Given the description of an element on the screen output the (x, y) to click on. 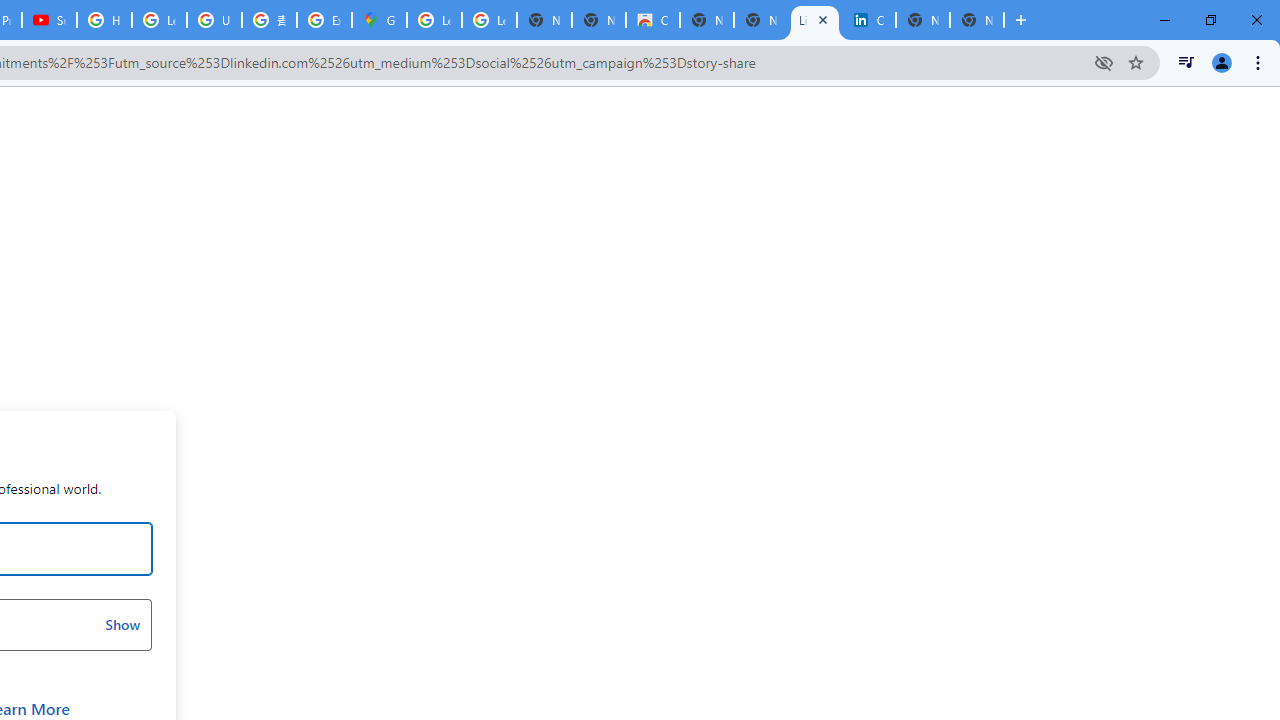
Explore new street-level details - Google Maps Help (324, 20)
How Chrome protects your passwords - Google Chrome Help (103, 20)
New Tab (976, 20)
Subscriptions - YouTube (48, 20)
Chrome Web Store (652, 20)
Copyright Policy (868, 20)
